Given the description of an element on the screen output the (x, y) to click on. 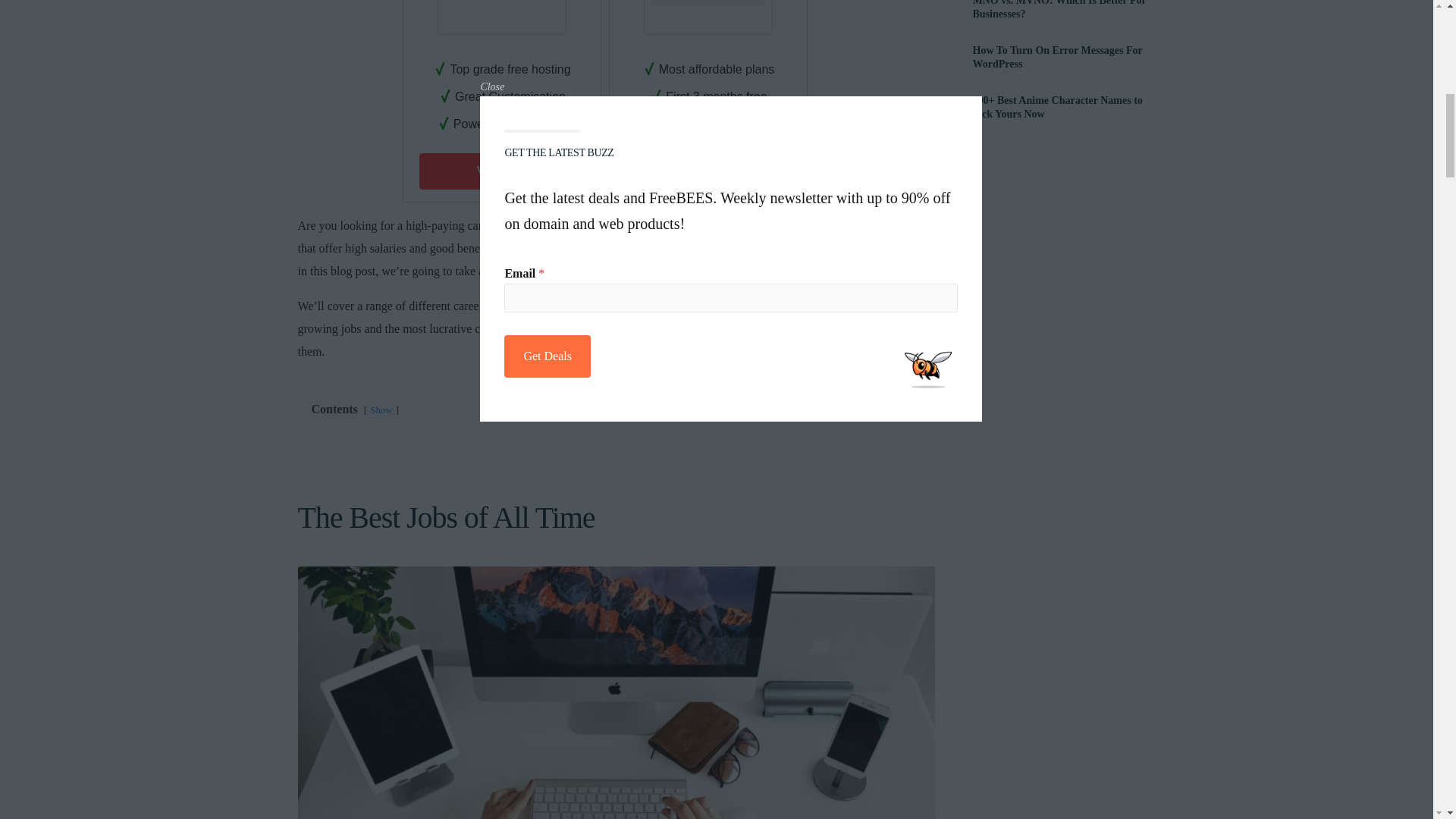
Visit site (501, 171)
